Given the description of an element on the screen output the (x, y) to click on. 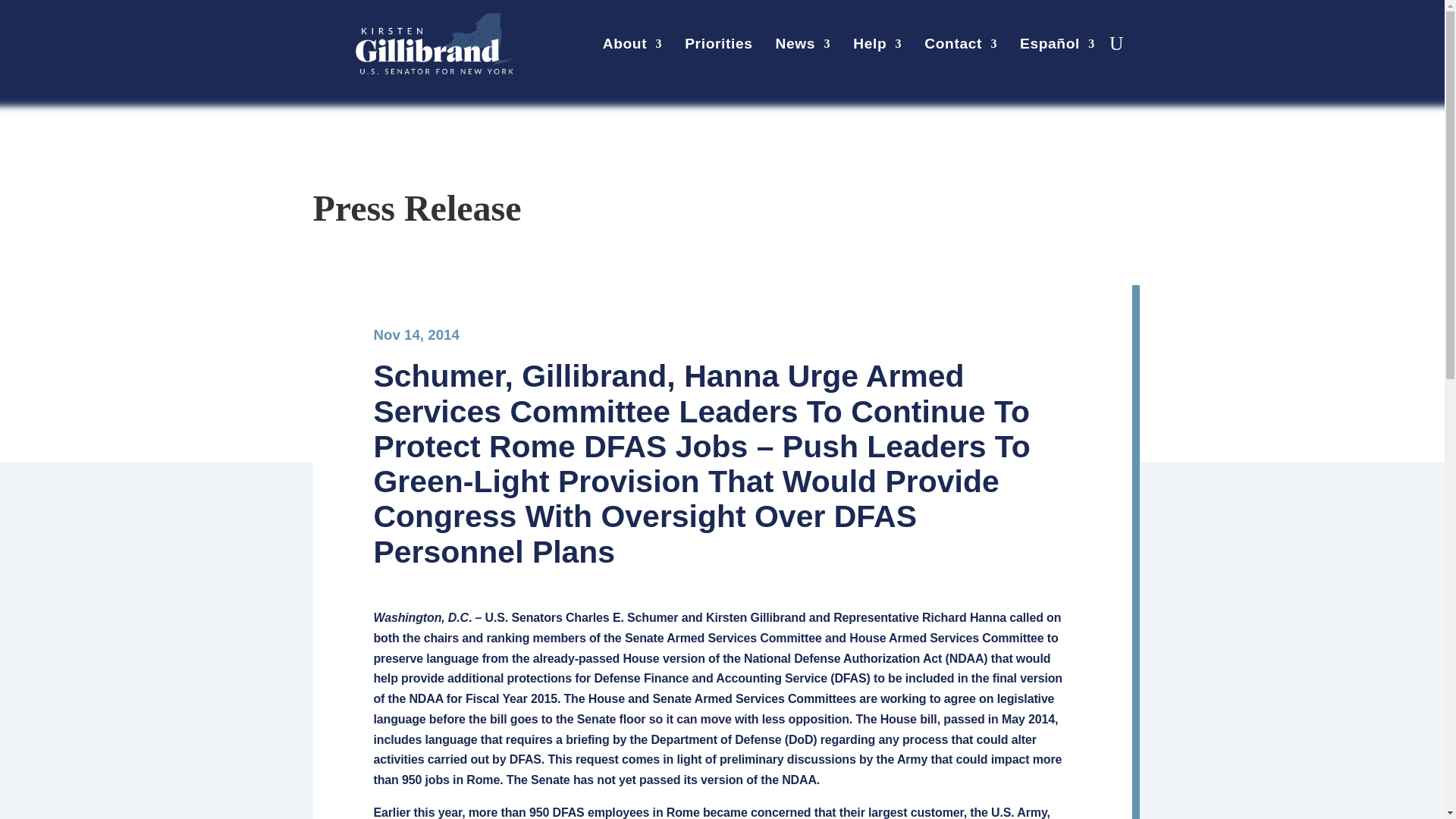
Priorities (718, 46)
gillibrand-logo (434, 43)
About (632, 46)
Help (877, 46)
Contact (960, 46)
News (803, 46)
